Given the description of an element on the screen output the (x, y) to click on. 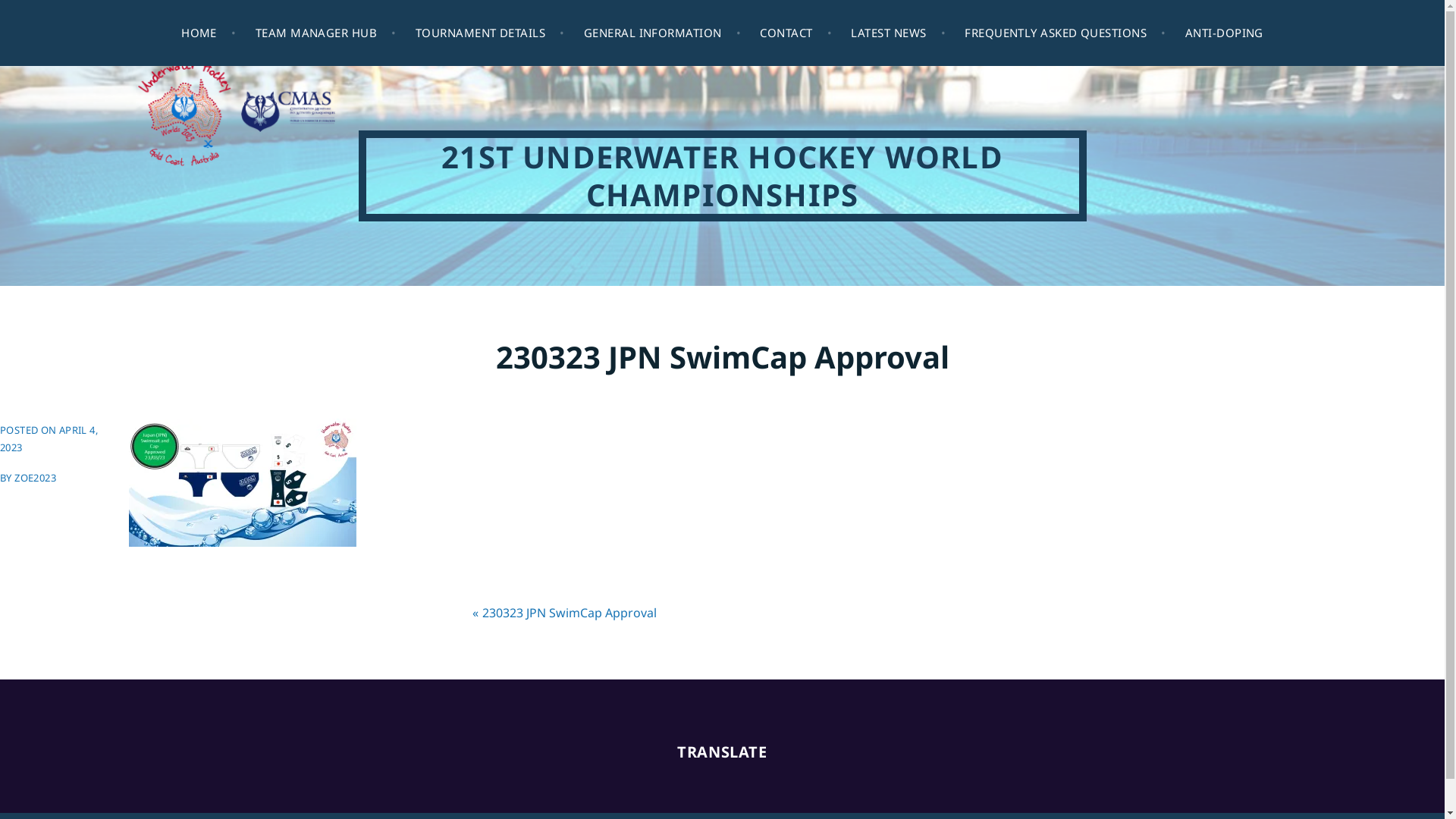
ANTI-DOPING Element type: text (1224, 32)
230323 JPN SwimCap Approval Element type: text (569, 612)
APRIL 4, 2023 Element type: text (48, 438)
CONTACT Element type: text (795, 32)
LATEST NEWS Element type: text (897, 32)
TEAM MANAGER HUB Element type: text (325, 32)
HOME Element type: text (208, 32)
ZOE2023 Element type: text (35, 477)
GENERAL INFORMATION Element type: text (661, 32)
FREQUENTLY ASKED QUESTIONS Element type: text (1065, 32)
21ST UNDERWATER HOCKEY WORLD CHAMPIONSHIPS Element type: text (721, 175)
TOURNAMENT DETAILS Element type: text (489, 32)
